Given the description of an element on the screen output the (x, y) to click on. 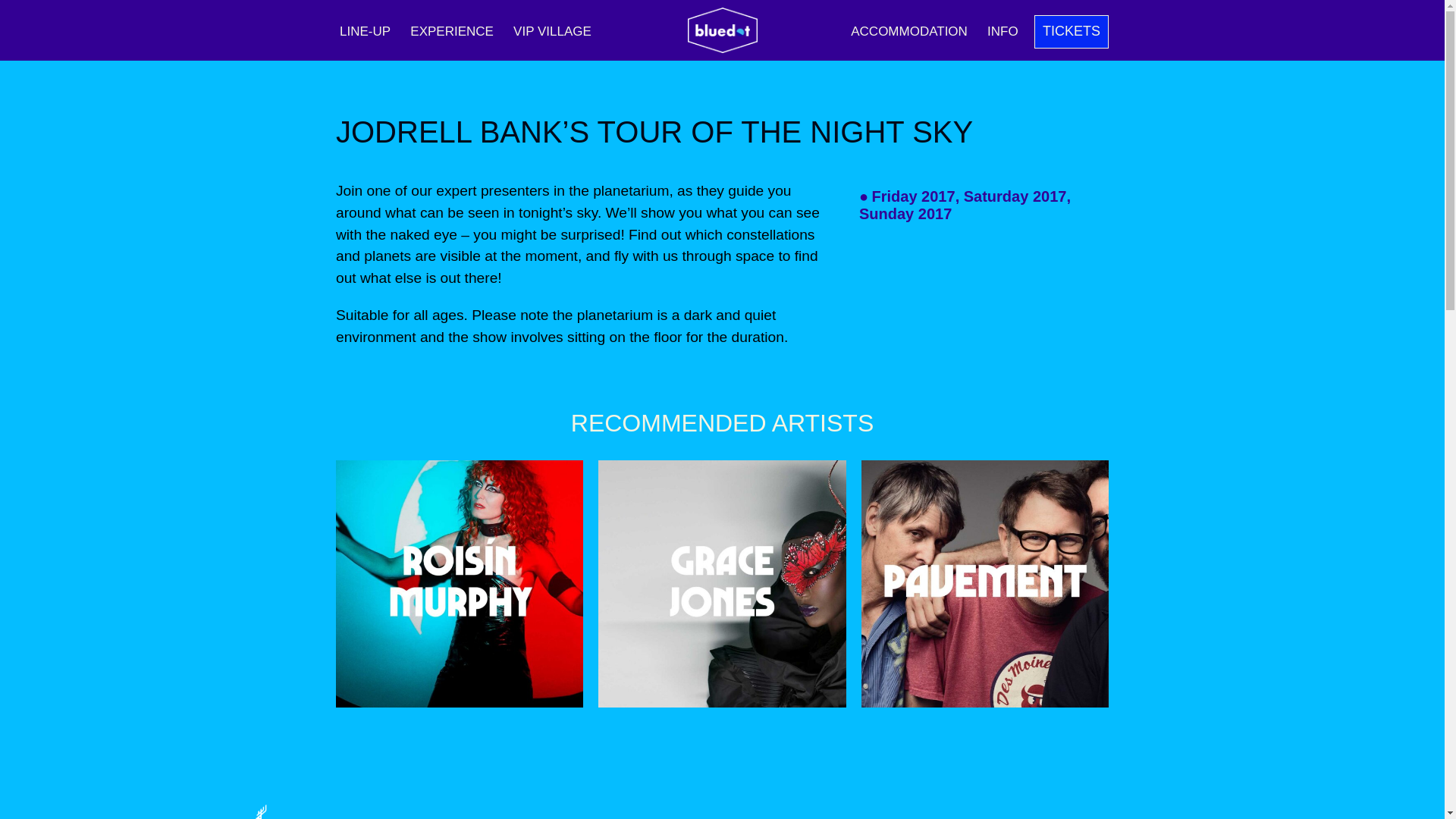
INFO (1003, 31)
ACCOMMODATION (909, 31)
VIP VILLAGE (552, 31)
LINE-UP (365, 31)
TICKETS (1070, 31)
EXPERIENCE (451, 31)
